Given the description of an element on the screen output the (x, y) to click on. 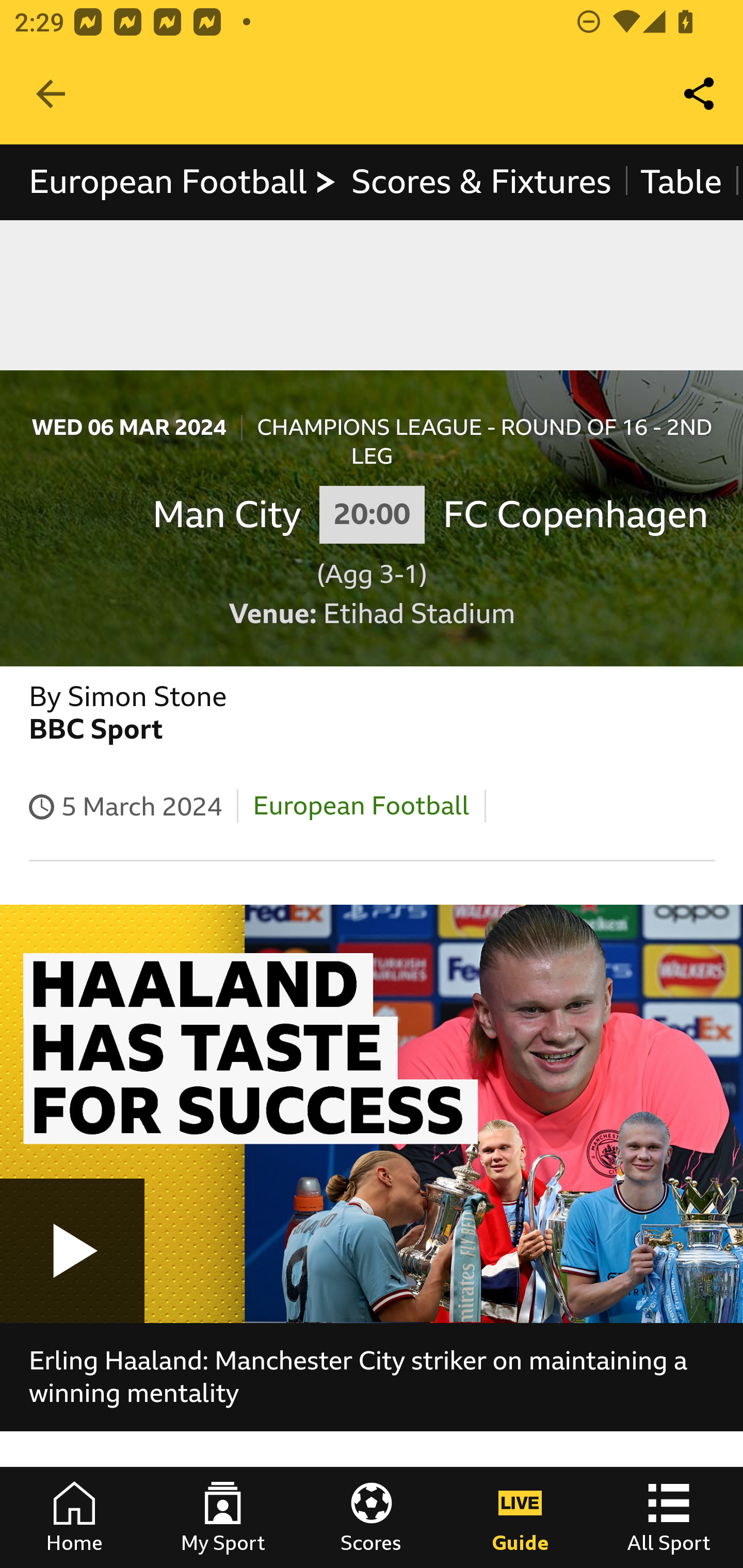
Navigate up (50, 93)
Share (699, 93)
European Football  (182, 181)
Scores & Fixtures (480, 181)
Table (681, 181)
European Football (361, 805)
Play  (371, 1113)
Play  (72, 1250)
Home (74, 1517)
My Sport (222, 1517)
Scores (371, 1517)
All Sport (668, 1517)
